Given the description of an element on the screen output the (x, y) to click on. 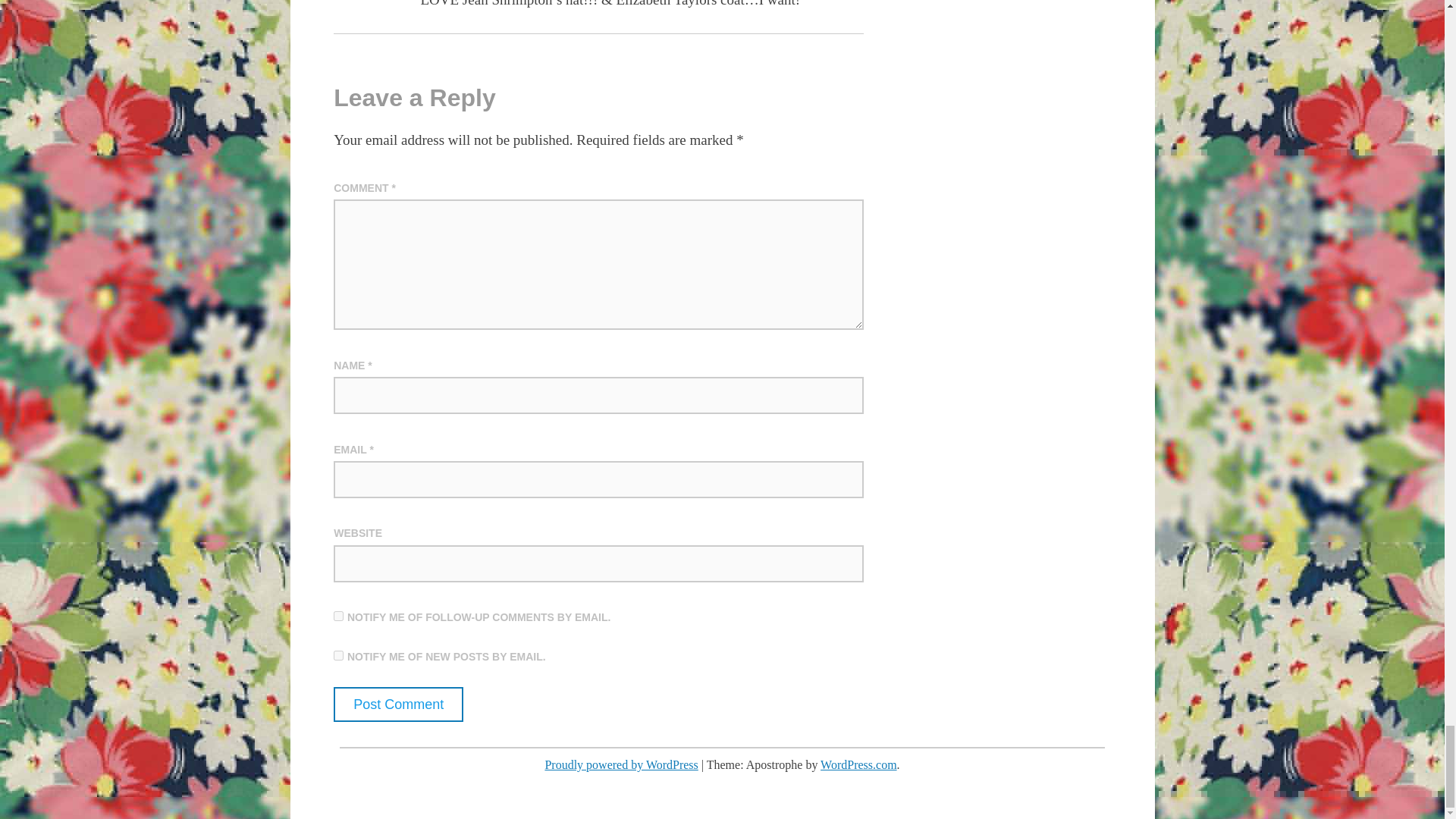
Post Comment (398, 704)
subscribe (338, 615)
subscribe (338, 655)
